Given the description of an element on the screen output the (x, y) to click on. 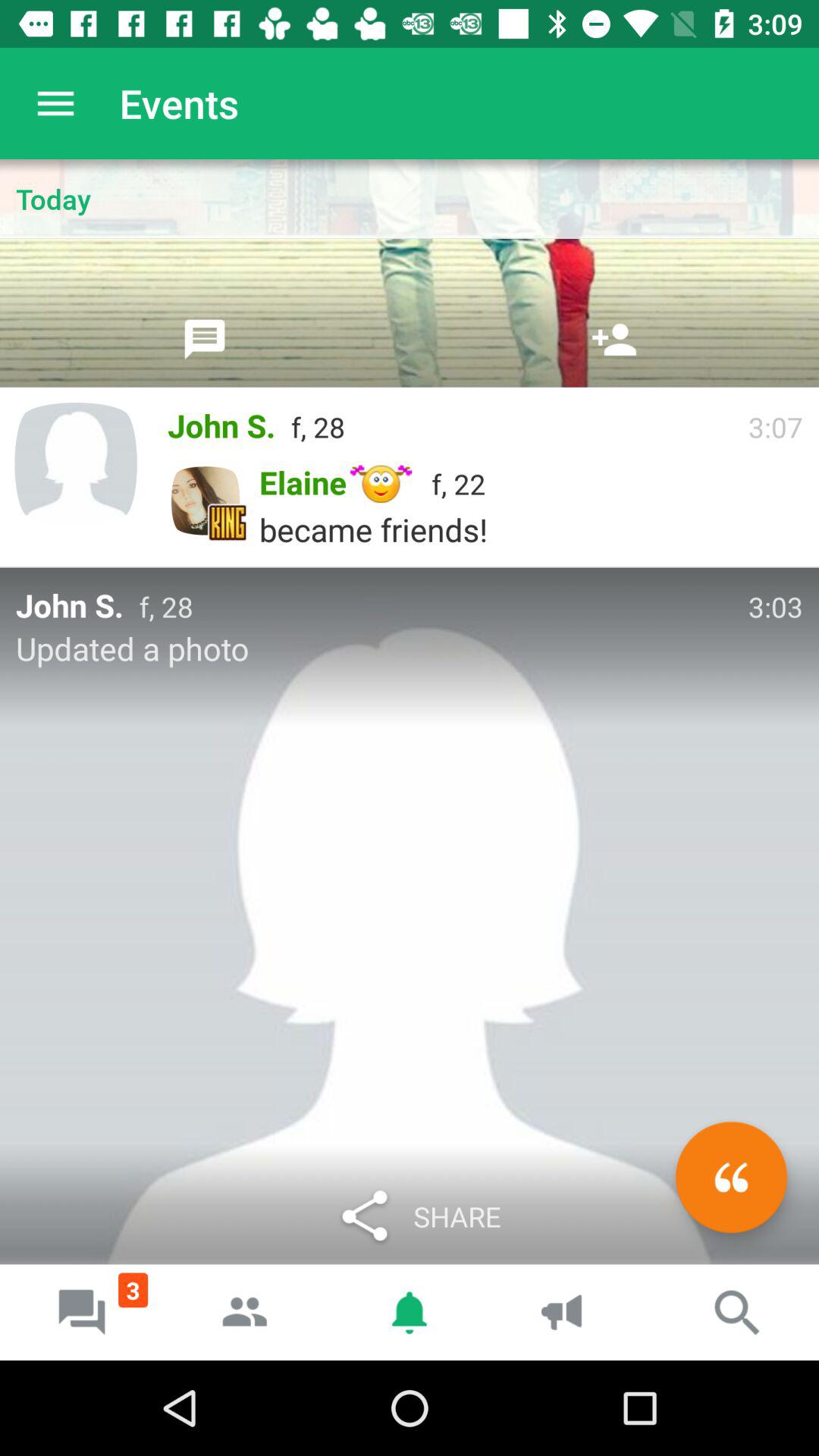
press the icon to the right of share (731, 1177)
